Given the description of an element on the screen output the (x, y) to click on. 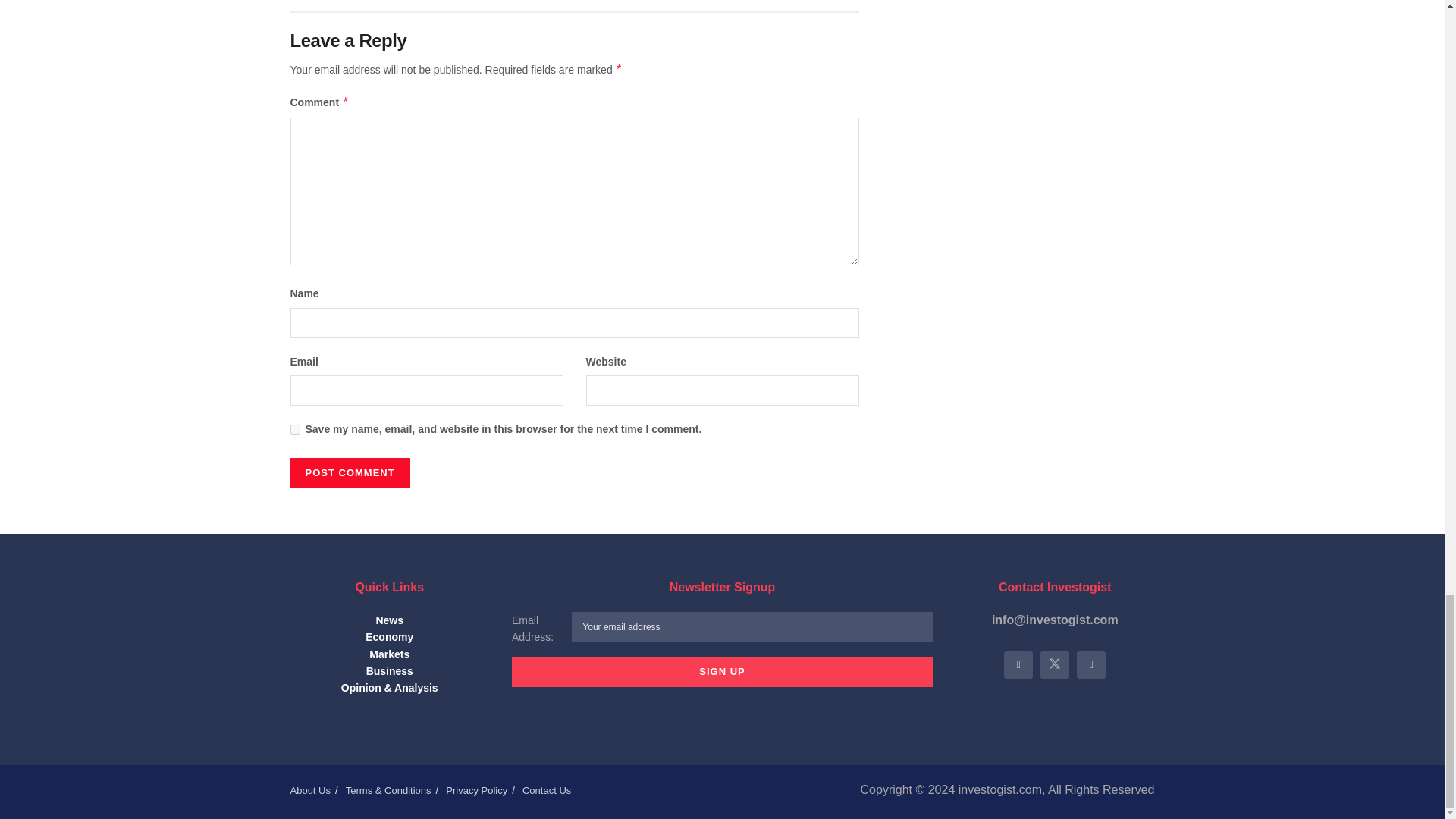
yes (294, 429)
Sign up (722, 671)
Post Comment (349, 472)
